Given the description of an element on the screen output the (x, y) to click on. 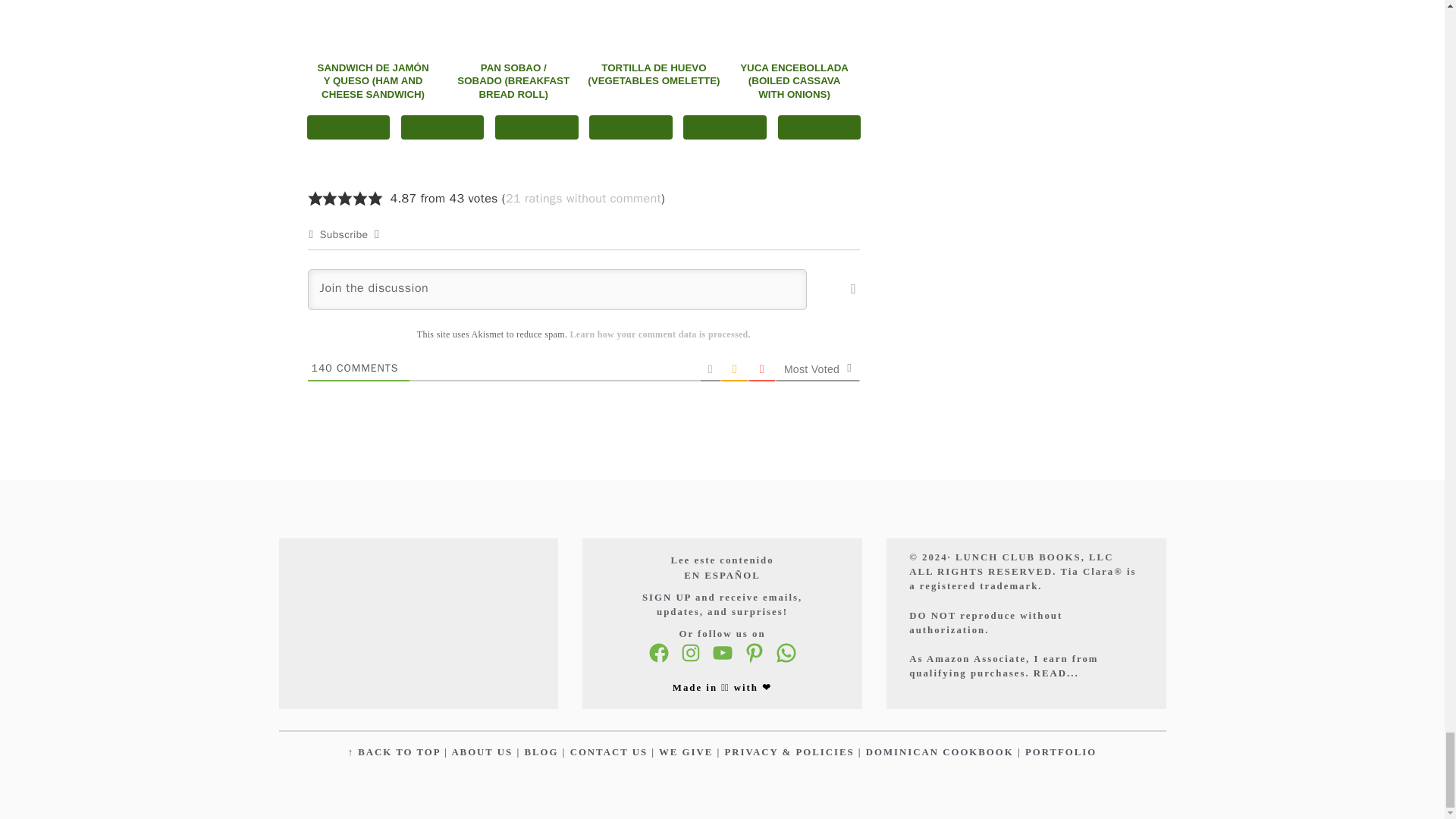
Share on Reddit (724, 127)
Share on Facebook (347, 127)
Save to Pinterest (442, 127)
Share on Yummly (630, 127)
Share on WhatsApp (536, 127)
